Given the description of an element on the screen output the (x, y) to click on. 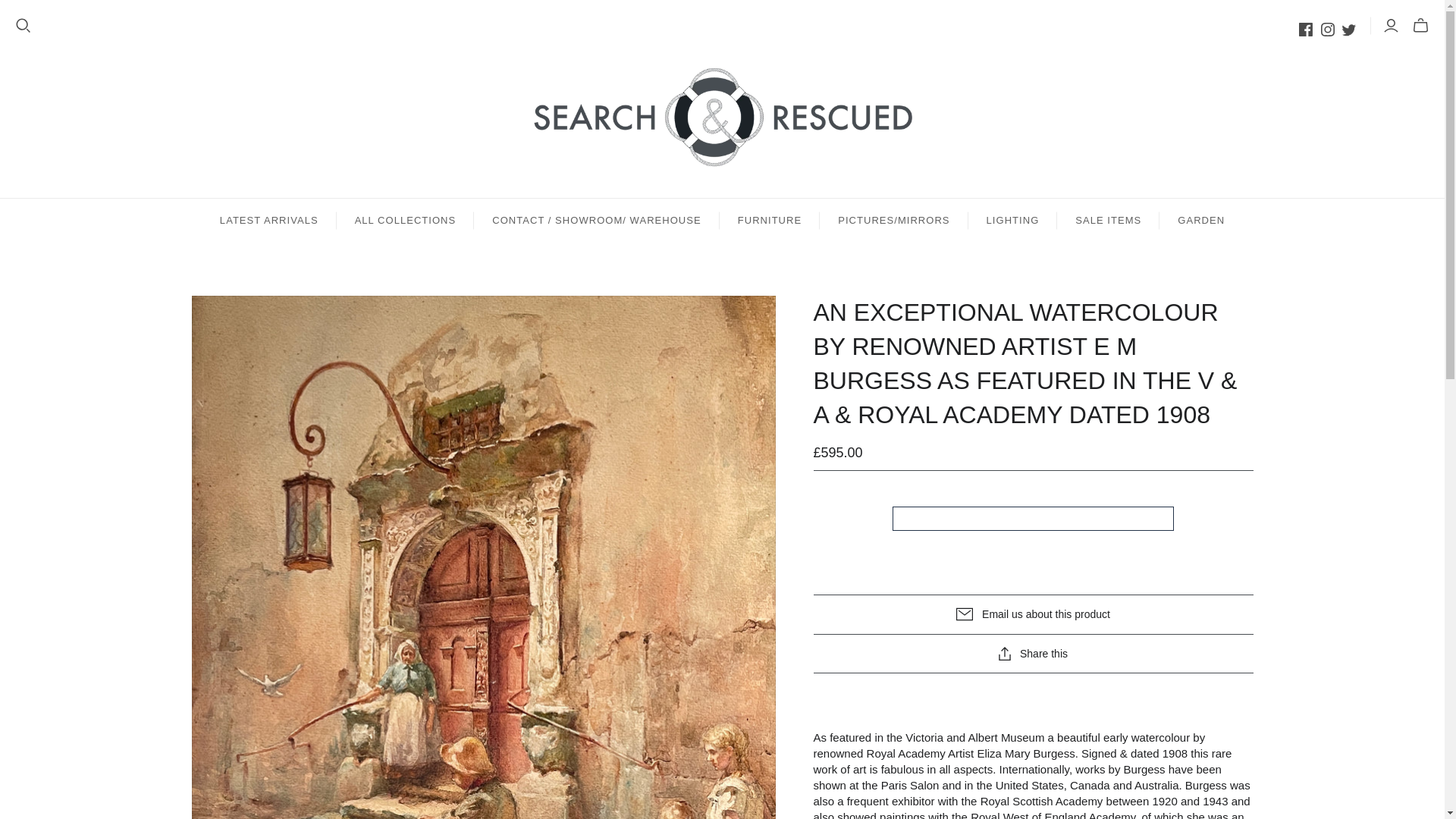
GARDEN (1200, 220)
ALL COLLECTIONS (405, 220)
LATEST ARRIVALS (269, 220)
FURNITURE (769, 220)
SALE ITEMS (1107, 220)
LIGHTING (1013, 220)
